Given the description of an element on the screen output the (x, y) to click on. 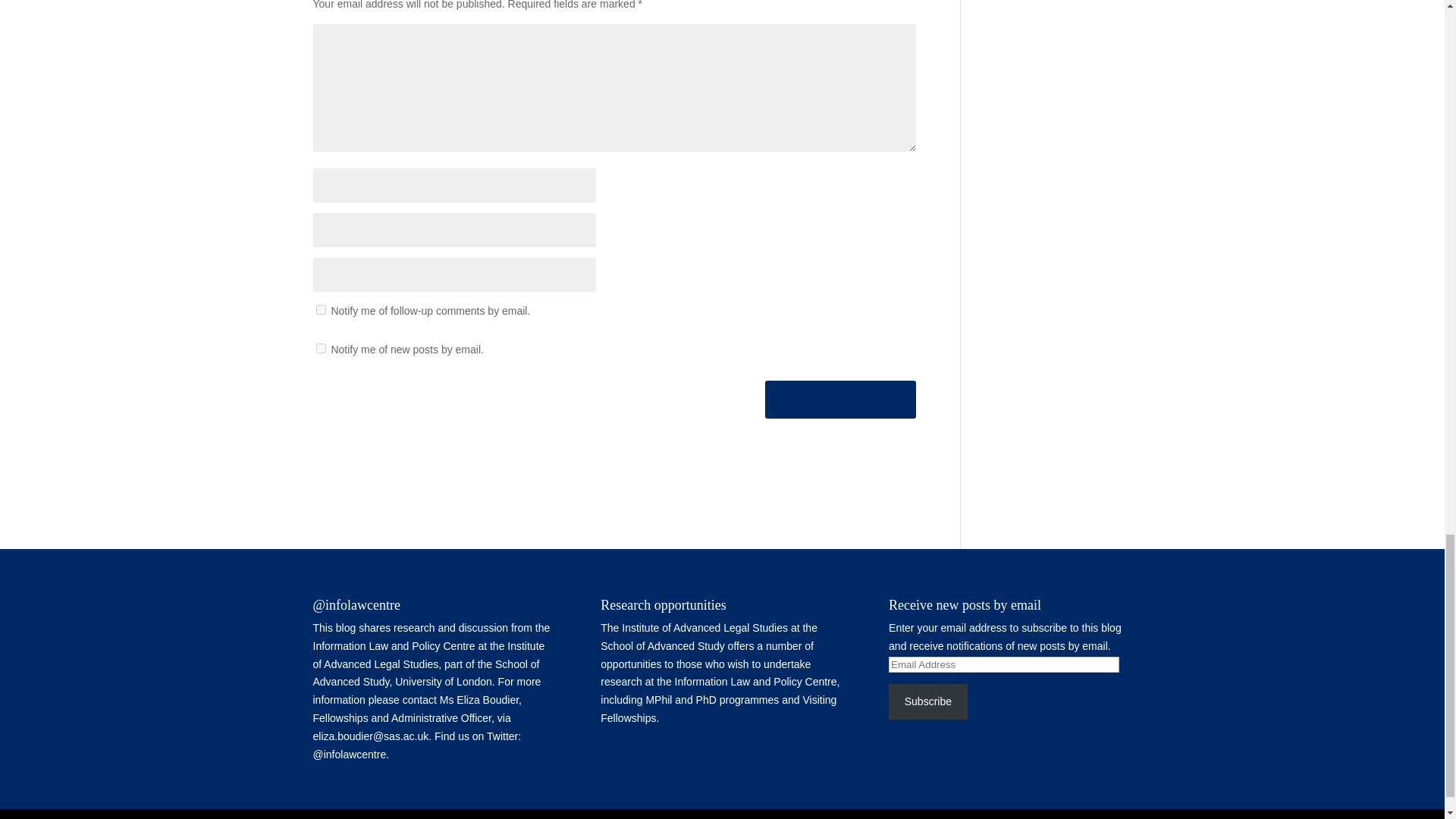
subscribe (319, 347)
Submit Comment (840, 399)
subscribe (319, 309)
